Given the description of an element on the screen output the (x, y) to click on. 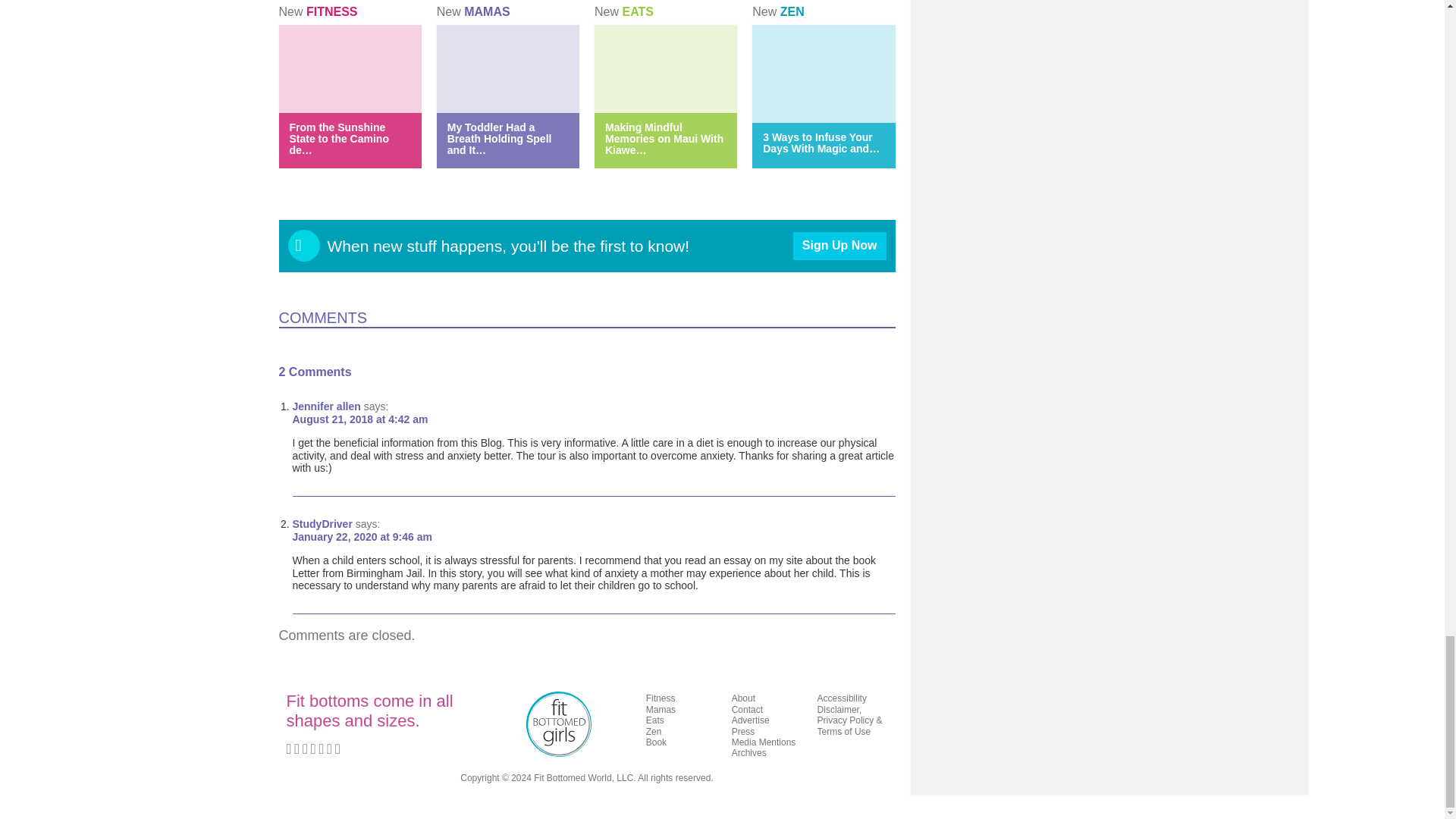
From the Sunshine State to the Camino de Santiago (338, 138)
Making Mindful Memories on Maui With Kiawe Outdoor (664, 138)
My Toddler Had a Breath Holding Spell and It Was Scary AF (498, 138)
3 Ways to Infuse Your Days With Magic and Meaning (820, 142)
